Given the description of an element on the screen output the (x, y) to click on. 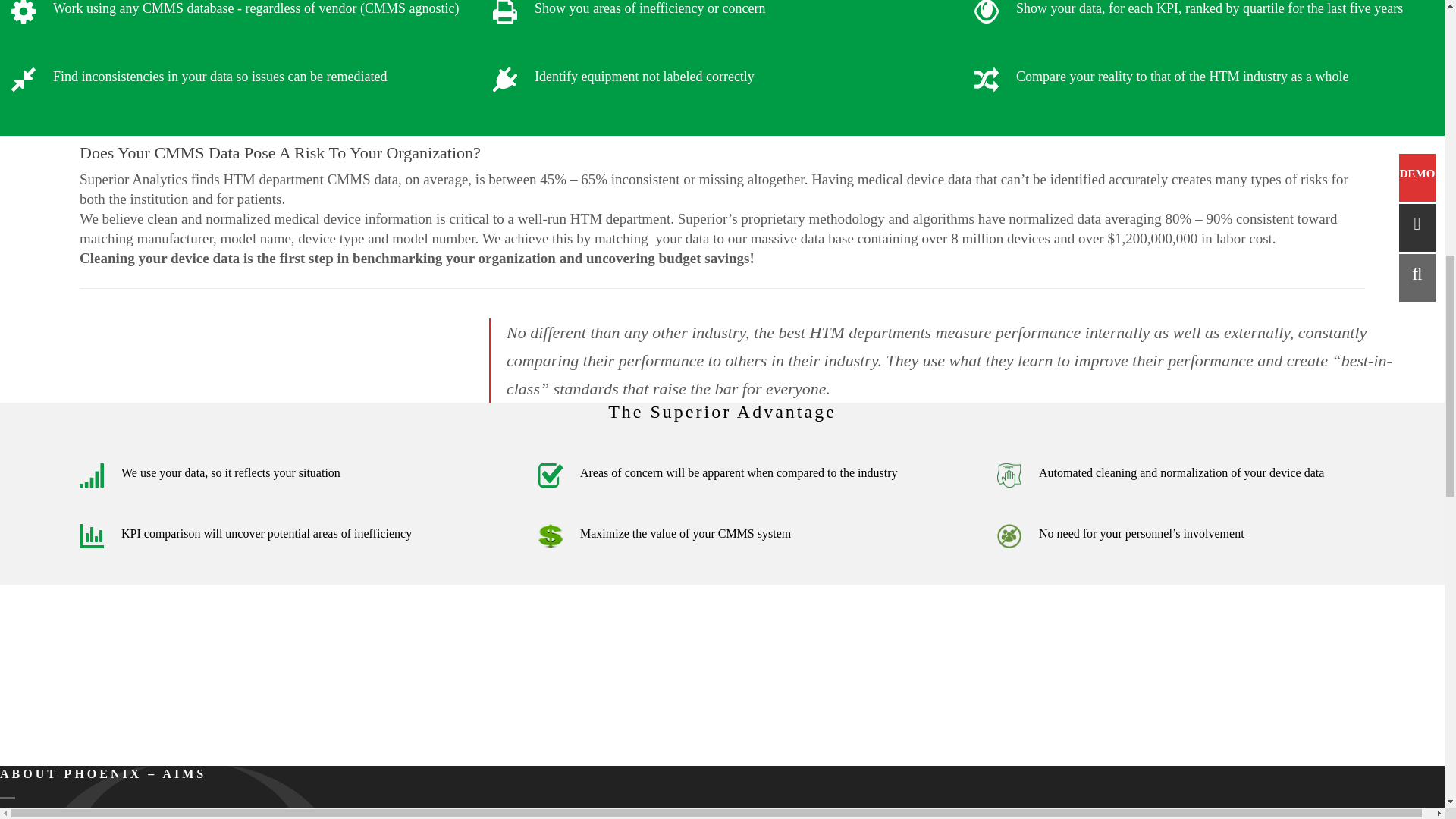
Scroll To Top (1425, 52)
